Given the description of an element on the screen output the (x, y) to click on. 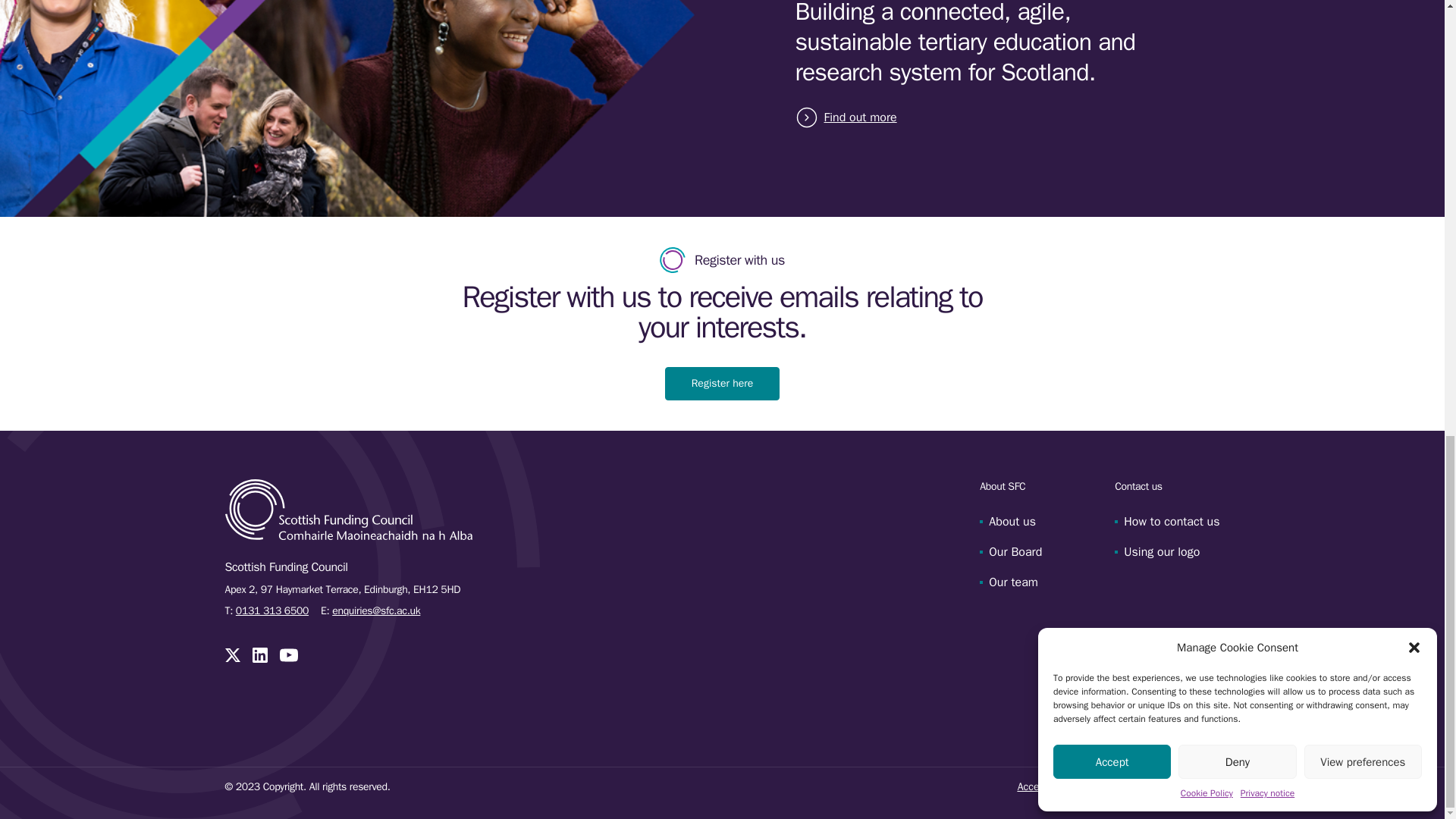
Scottish Funding Council on LinkedIn (258, 654)
Scottish Funding Council on YouTube (288, 655)
Find out more (856, 117)
Scottish Funding Council on Twitter (232, 654)
